Given the description of an element on the screen output the (x, y) to click on. 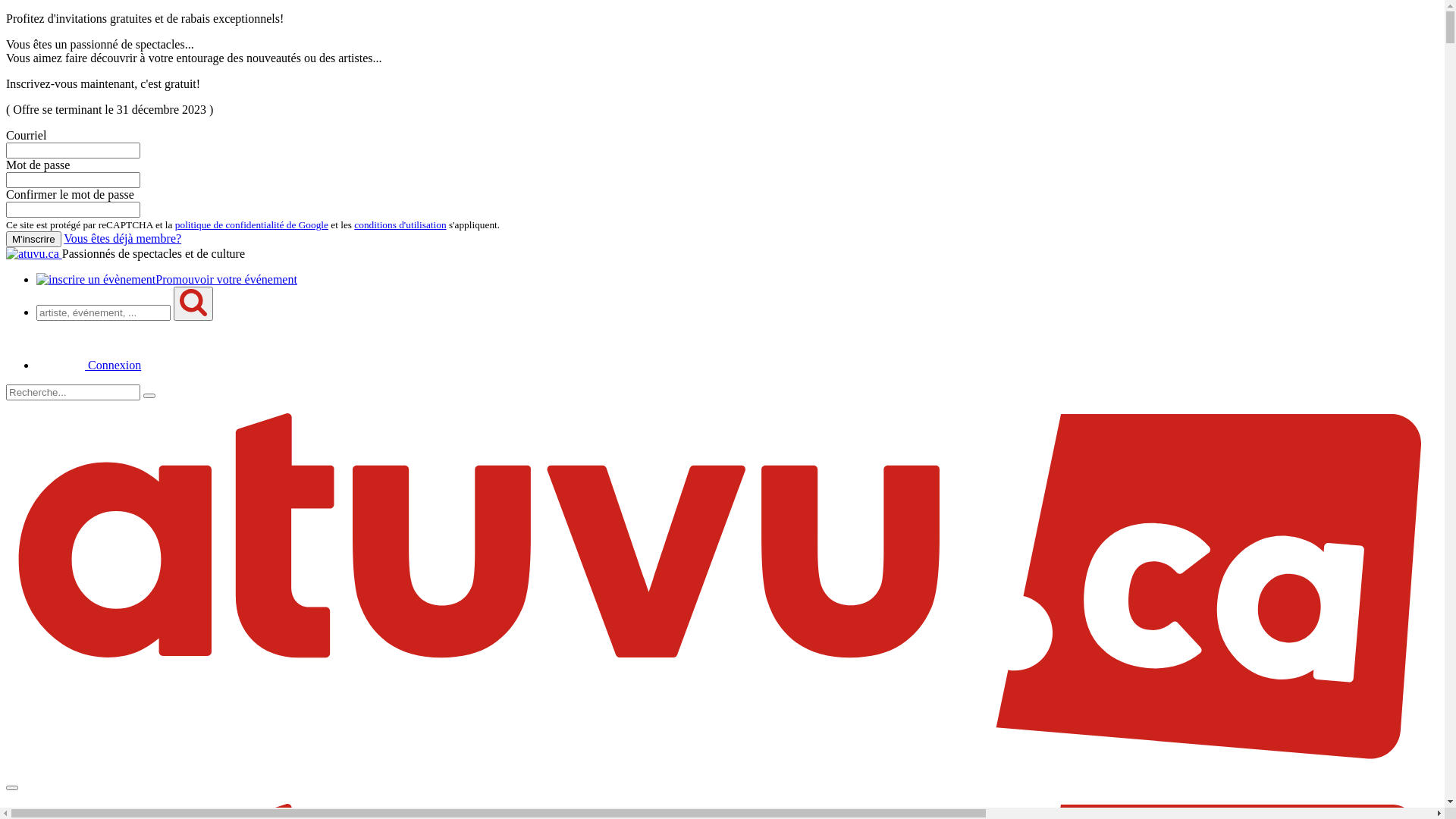
Connexion Element type: text (88, 364)
M'inscrire Element type: text (33, 239)
conditions d'utilisation Element type: text (399, 224)
